Given the description of an element on the screen output the (x, y) to click on. 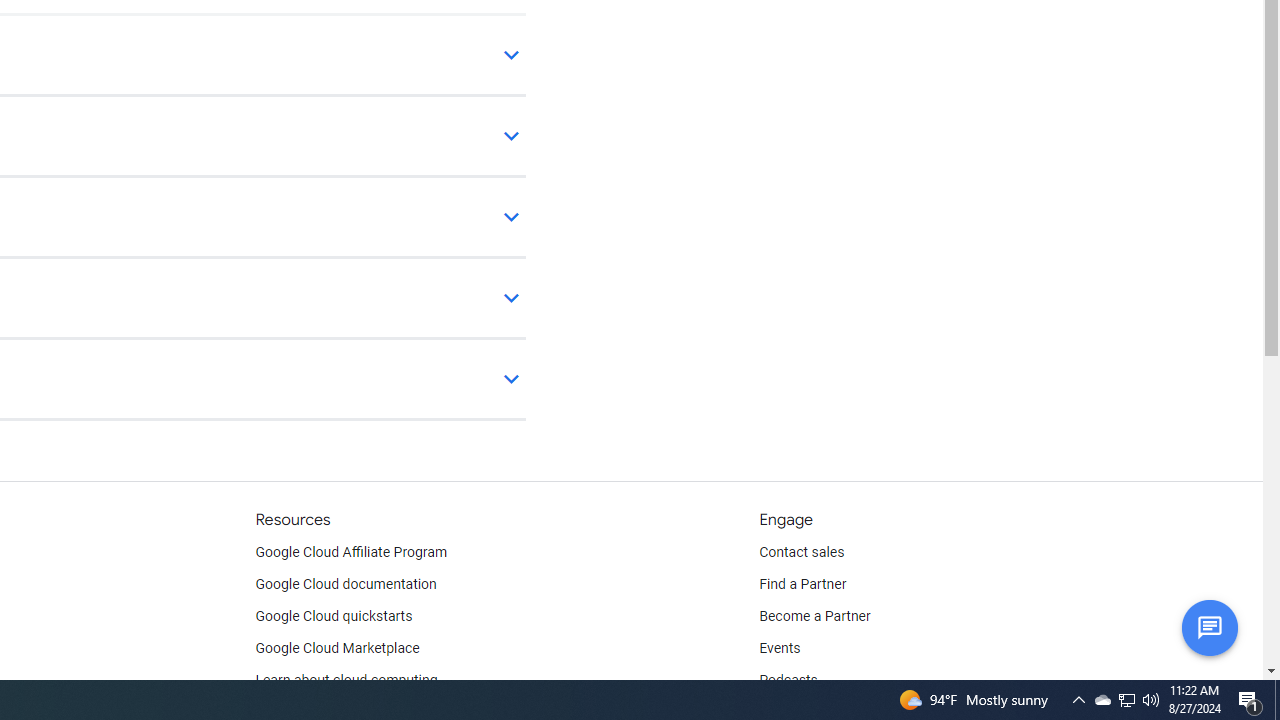
Google Cloud documentation (345, 584)
Google Cloud Marketplace (336, 648)
Learn about cloud computing (345, 680)
Button to activate chat (1209, 627)
Google Cloud quickstarts (333, 616)
Google Cloud Affiliate Program (351, 552)
Podcasts (788, 680)
Find a Partner (803, 584)
Events (780, 648)
Contact sales (801, 552)
Become a Partner (814, 616)
